Given the description of an element on the screen output the (x, y) to click on. 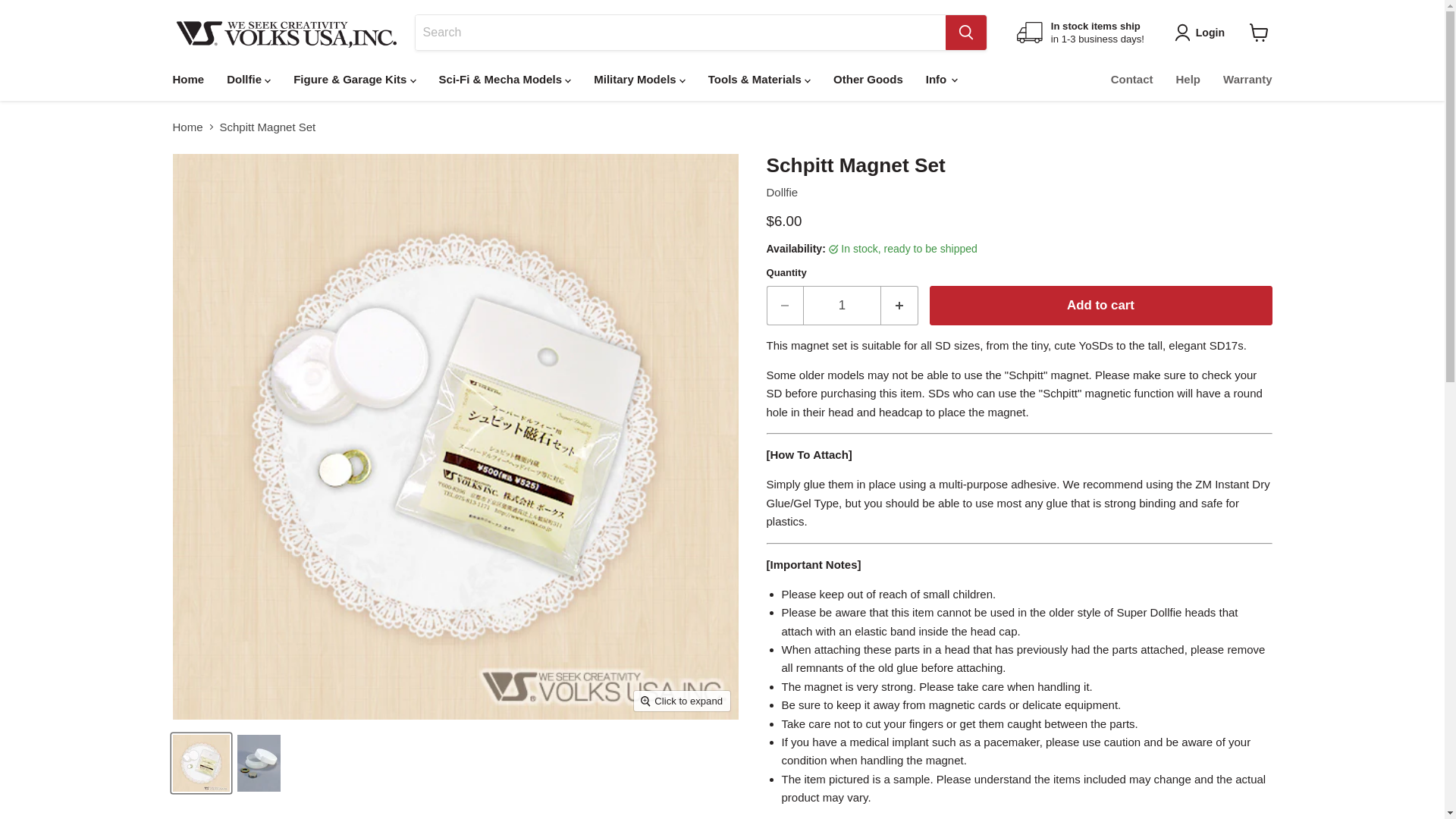
Dollfie (781, 192)
Login (1202, 32)
1 (1080, 32)
Home (841, 304)
View cart (187, 79)
